Given the description of an element on the screen output the (x, y) to click on. 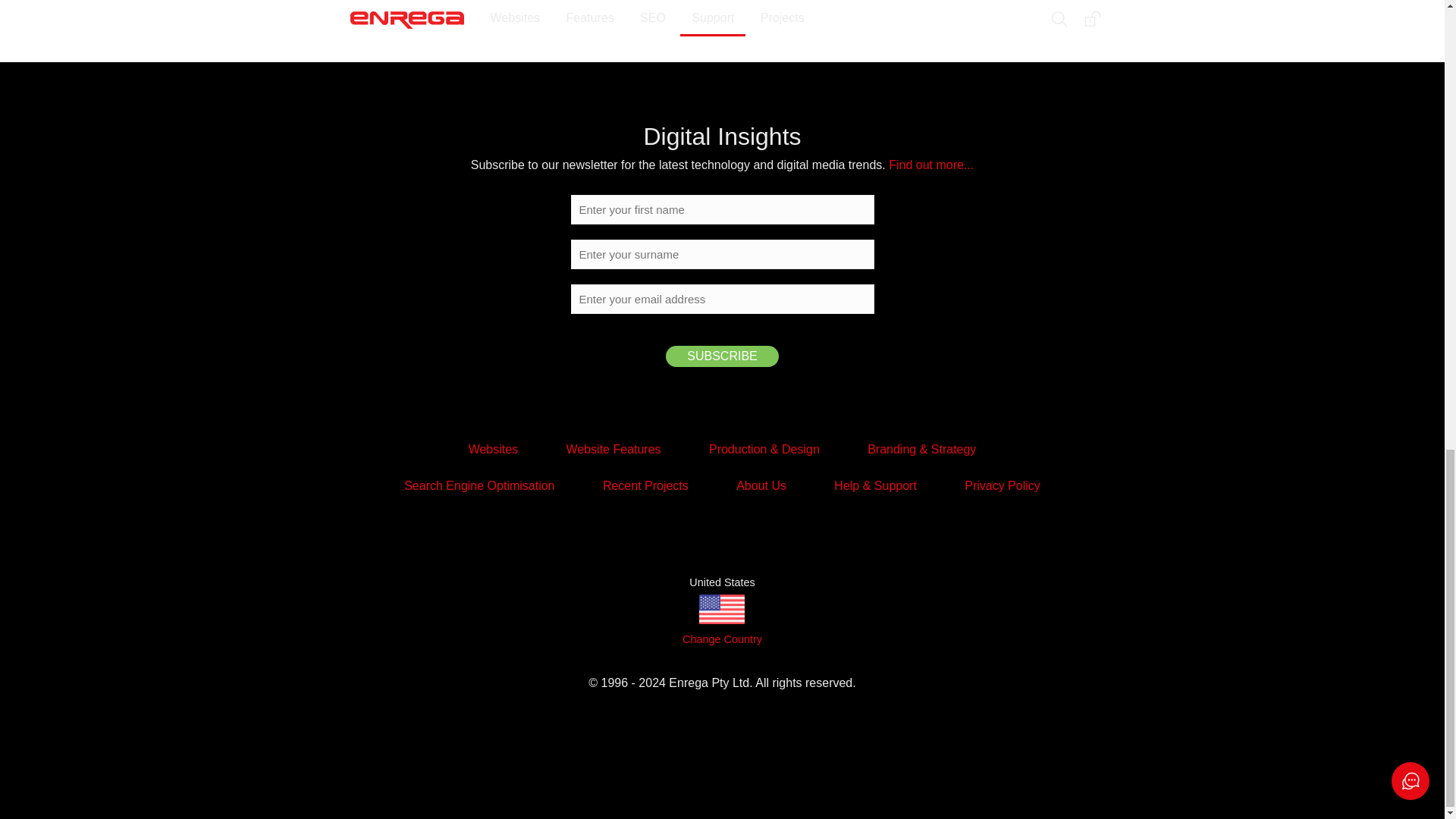
Subscribe (721, 355)
